Given the description of an element on the screen output the (x, y) to click on. 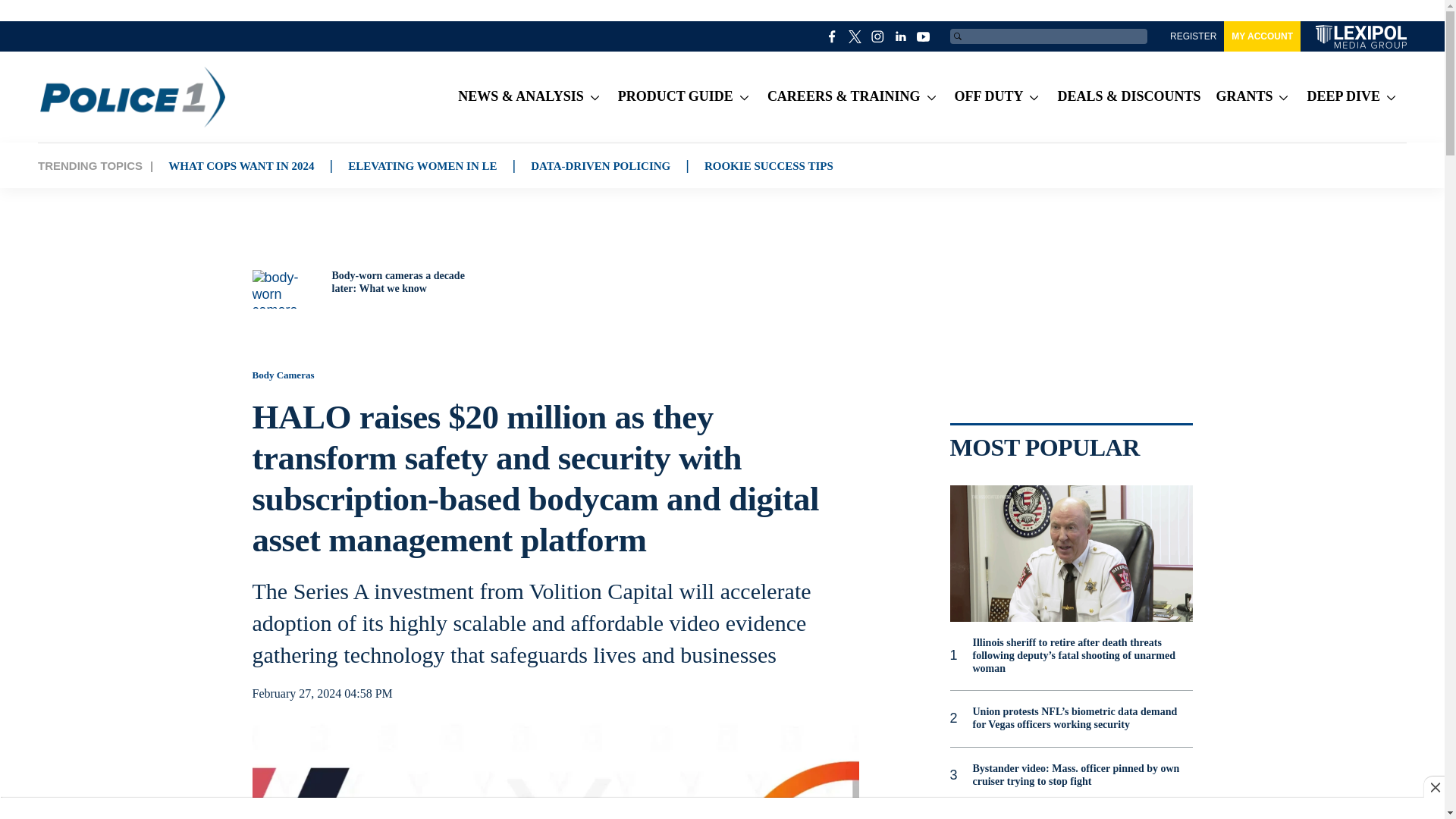
instagram (877, 36)
linkedin (900, 36)
MY ACCOUNT (1262, 36)
twitter (855, 36)
youtube (923, 36)
REGISTER (1192, 36)
facebook (832, 36)
